Given the description of an element on the screen output the (x, y) to click on. 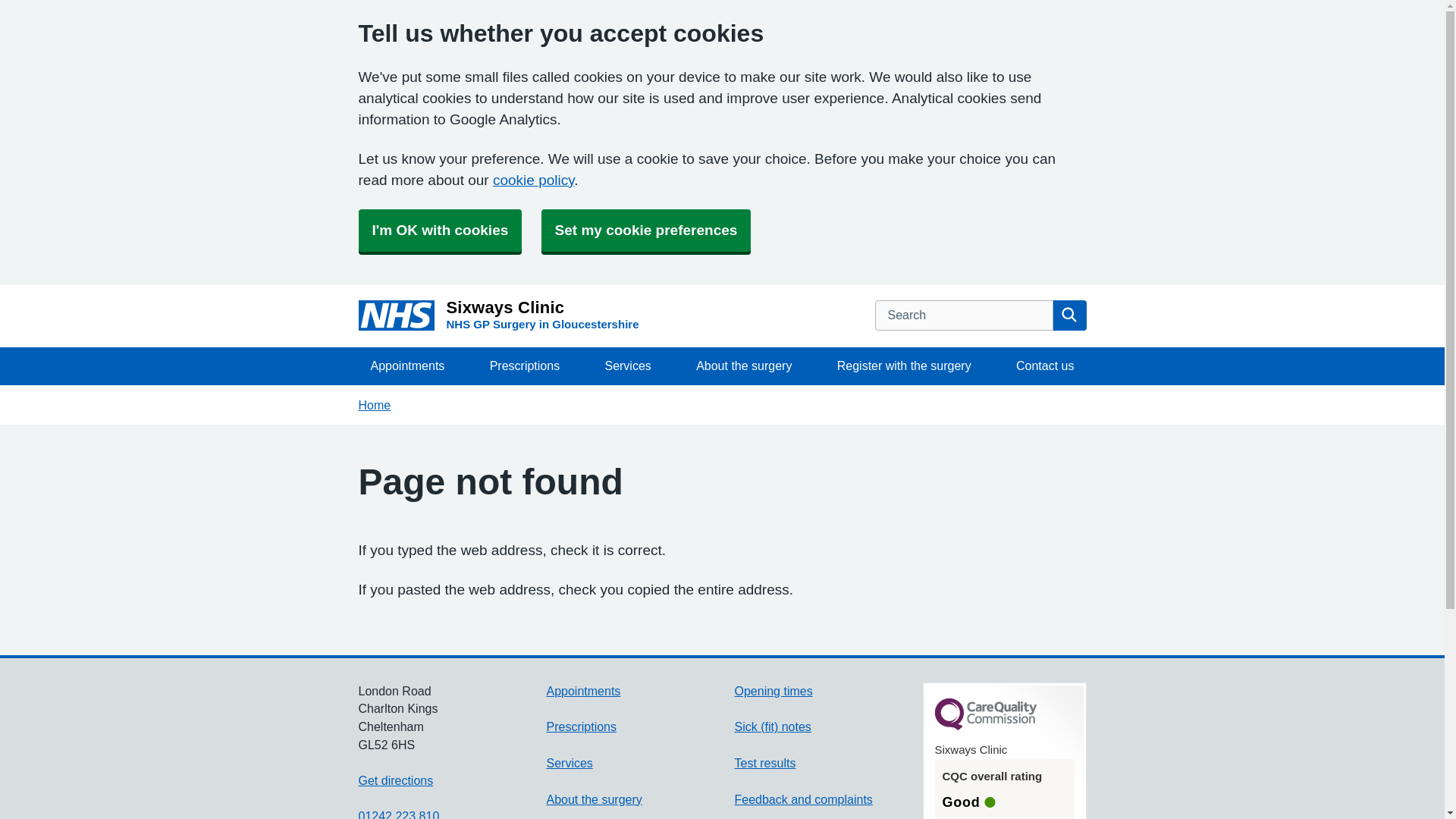
Get directions (395, 780)
Prescriptions (524, 365)
Appointments (498, 316)
Prescriptions (583, 690)
Services (580, 726)
Register with the surgery (569, 762)
Set my cookie preferences (904, 365)
About the surgery (646, 230)
Contact us (743, 365)
Test results (1045, 365)
Home (763, 762)
About the surgery (374, 404)
CQC Logo (594, 799)
cookie policy (984, 726)
